Given the description of an element on the screen output the (x, y) to click on. 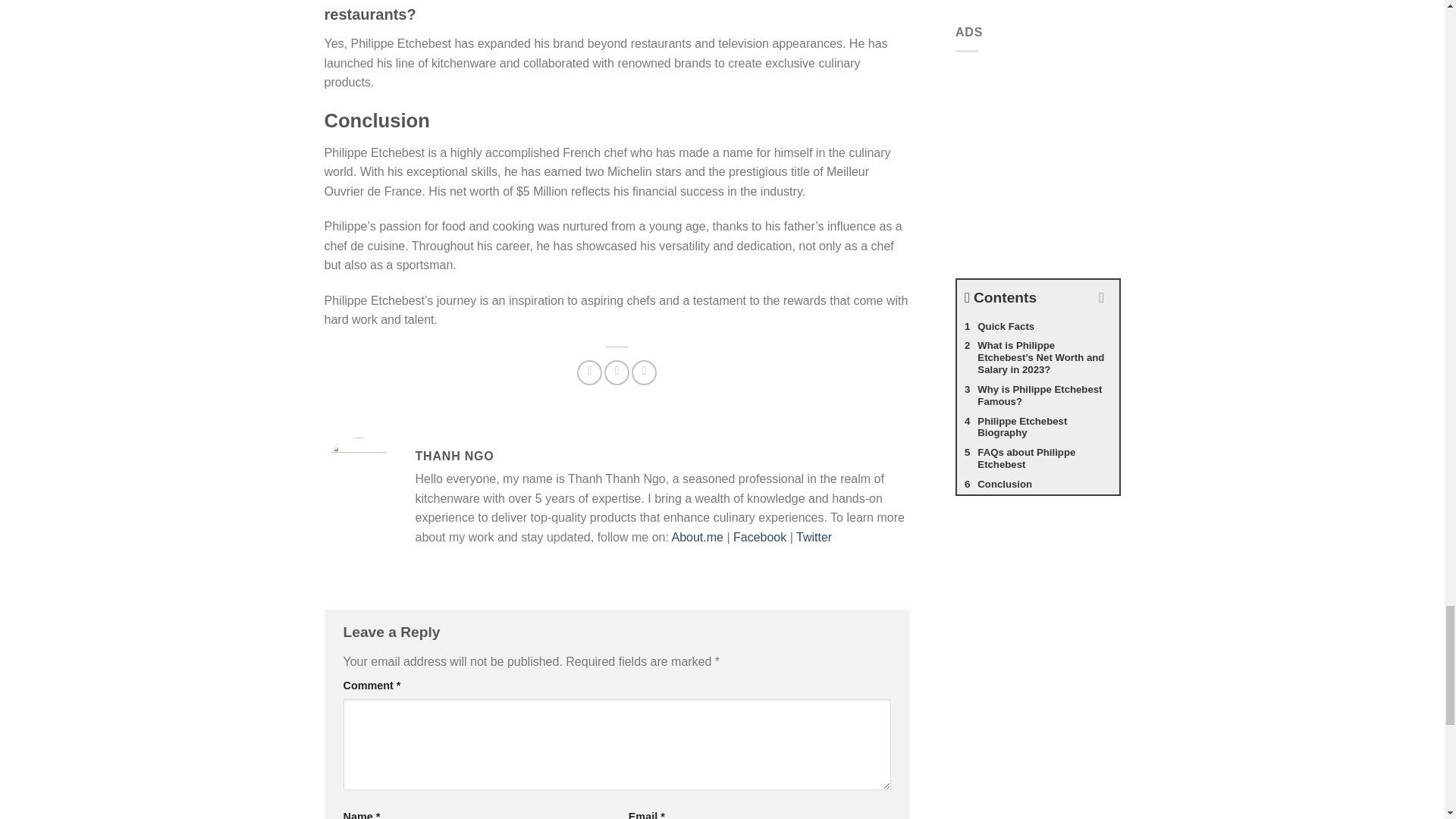
Pin on Pinterest (643, 372)
About.me (696, 536)
Twitter (813, 536)
Share on Facebook (589, 372)
Share on Twitter (616, 372)
Facebook (759, 536)
